Given the description of an element on the screen output the (x, y) to click on. 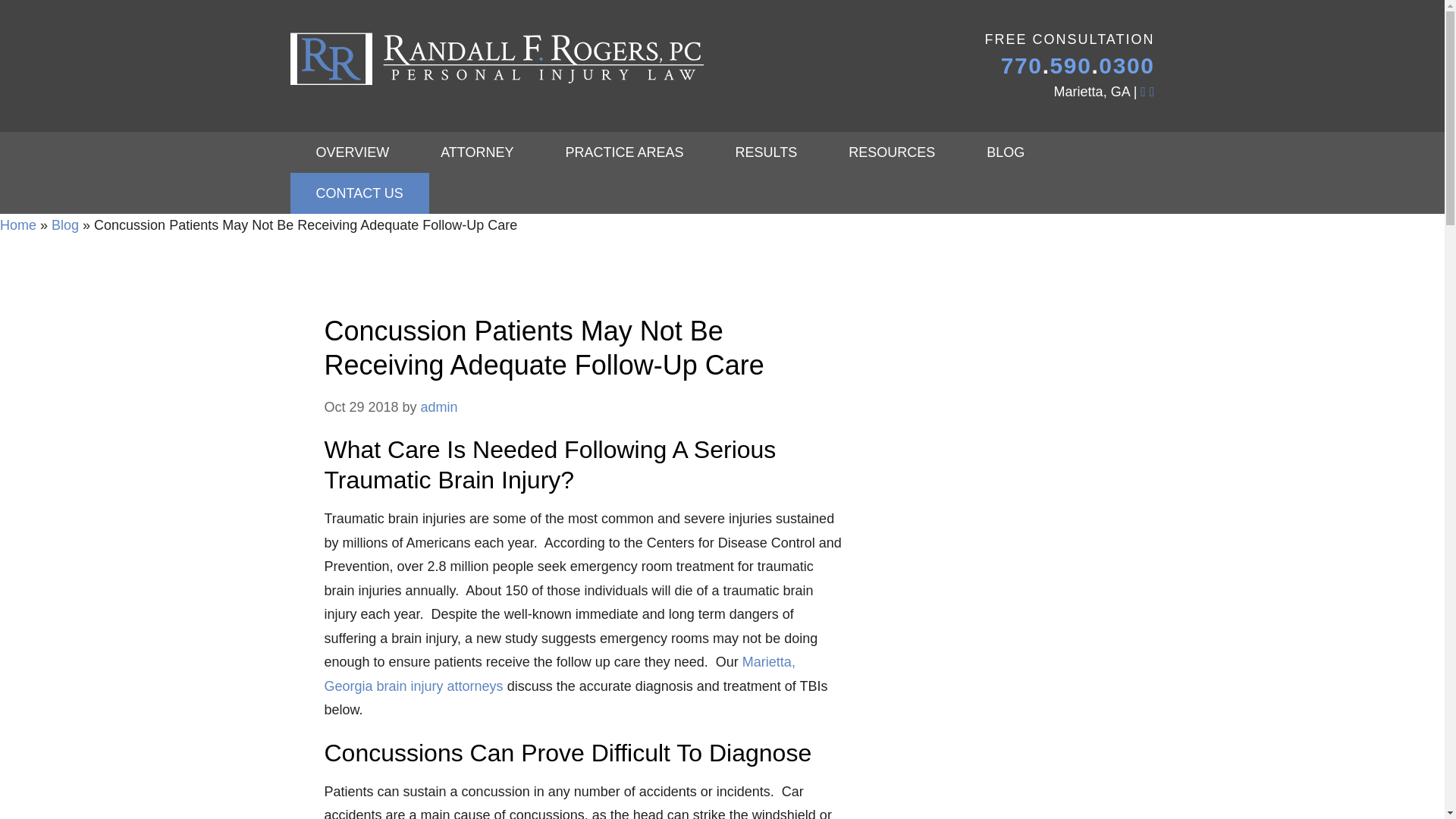
BLOG (1004, 151)
PRACTICE AREAS (625, 151)
RESULTS (767, 151)
ATTORNEY (476, 151)
OVERVIEW (351, 151)
770.590.0300 (1077, 65)
Posts by admin (439, 406)
CONTACT US (358, 192)
RESOURCES (891, 151)
